Given the description of an element on the screen output the (x, y) to click on. 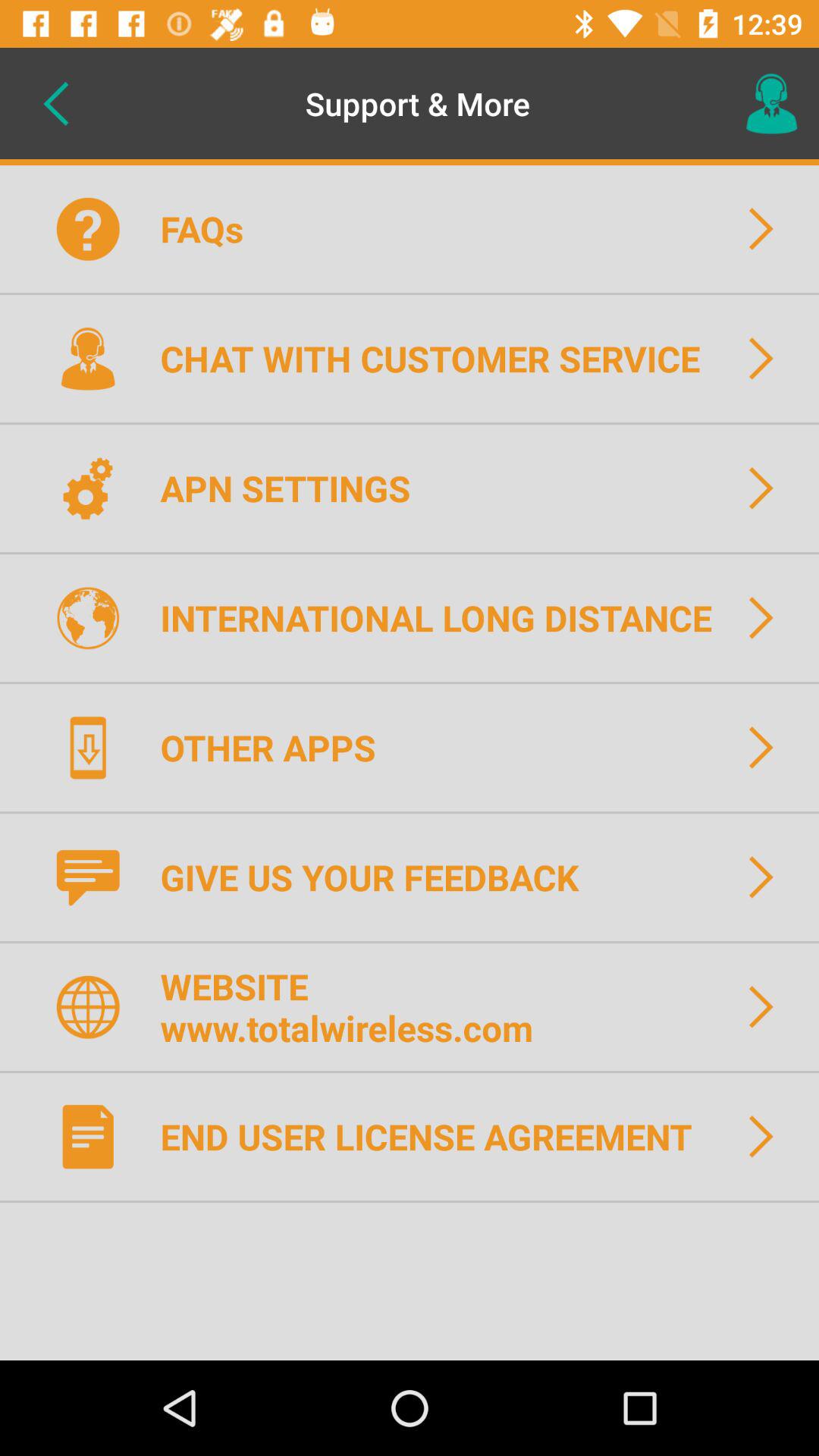
jump until the website www totalwireless item (356, 1007)
